Given the description of an element on the screen output the (x, y) to click on. 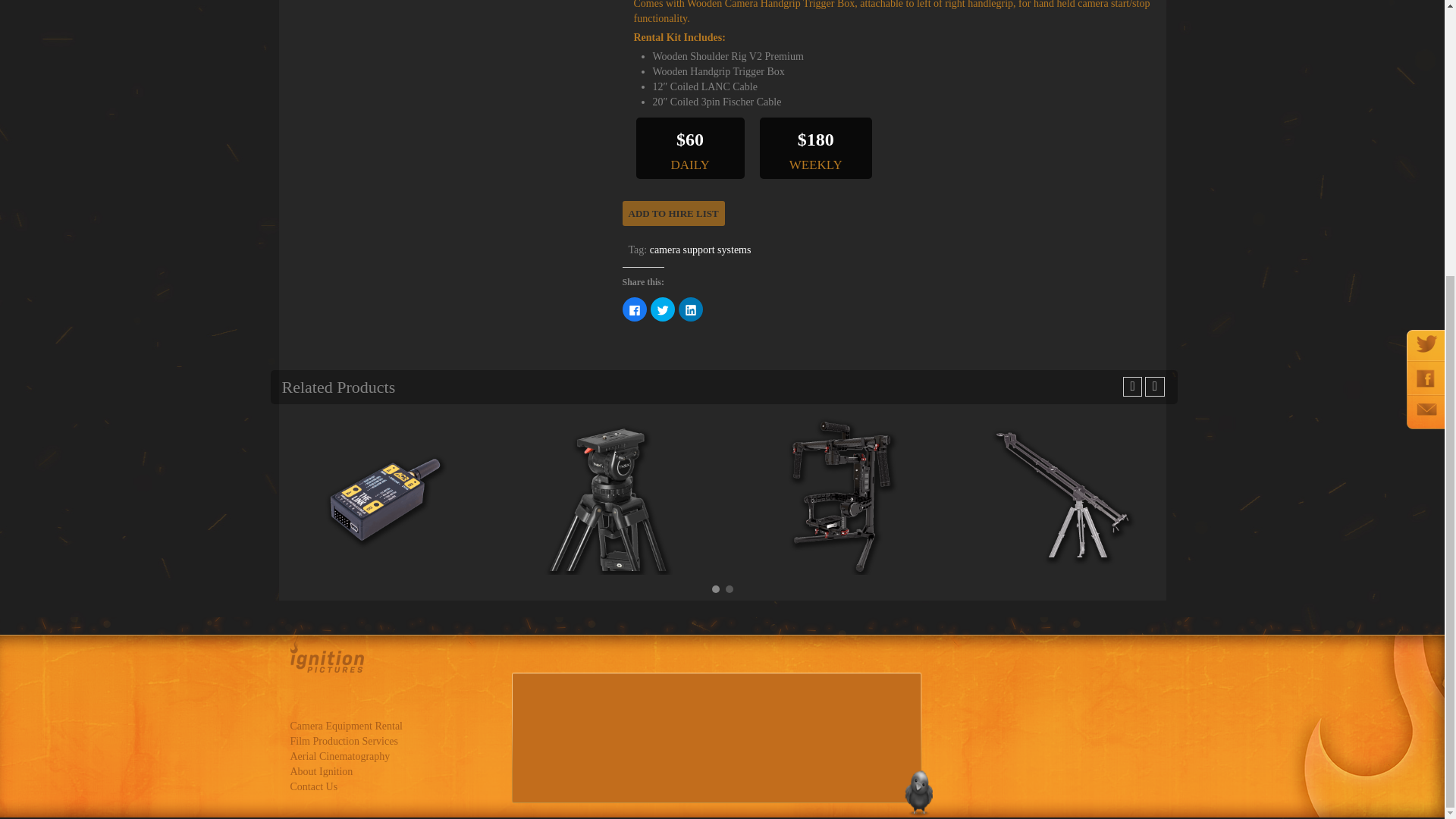
Click to share on LinkedIn (689, 309)
Click to share on Twitter (662, 309)
Click to share on Facebook (633, 309)
